Given the description of an element on the screen output the (x, y) to click on. 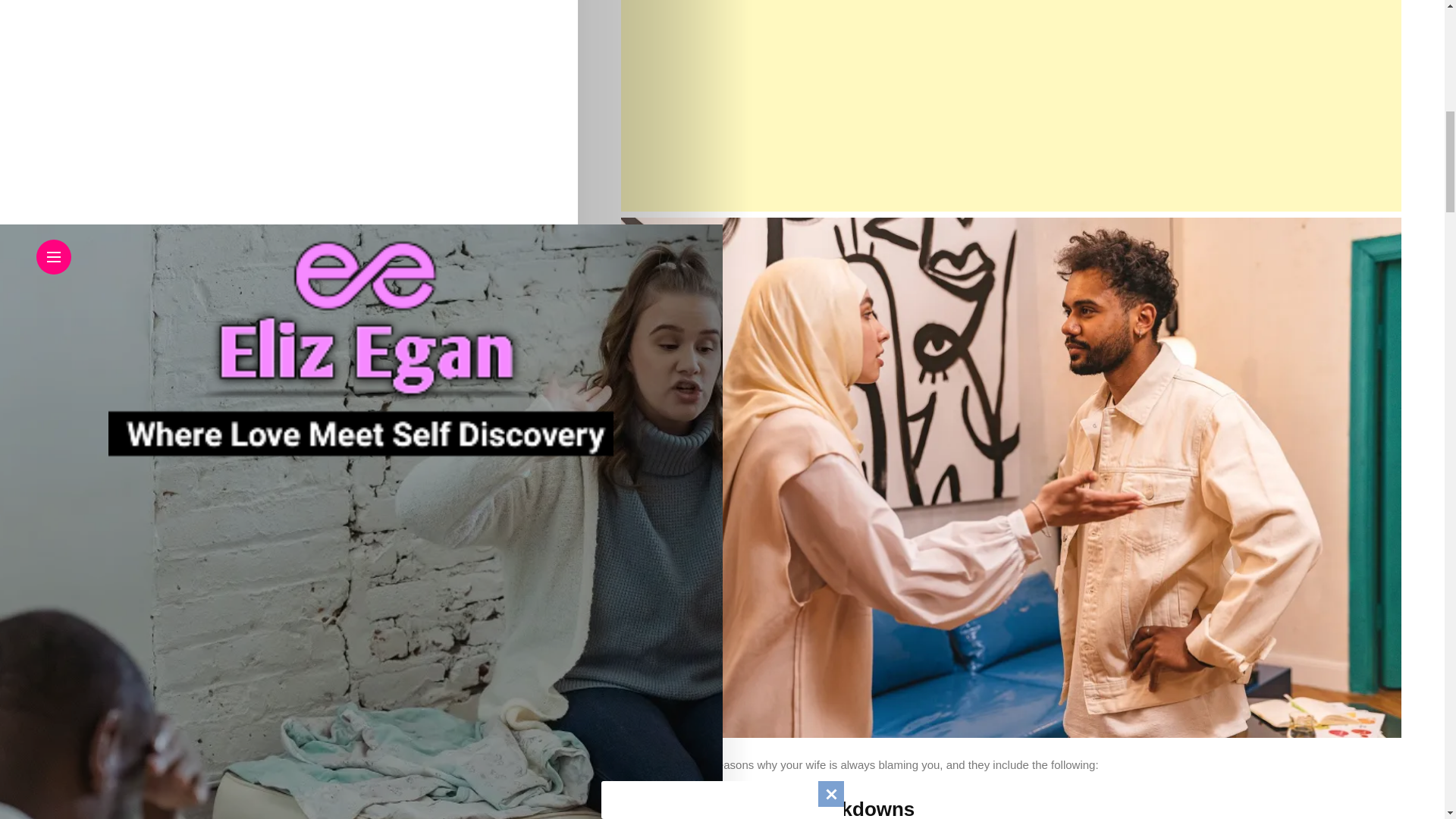
x (7, 7)
